Given the description of an element on the screen output the (x, y) to click on. 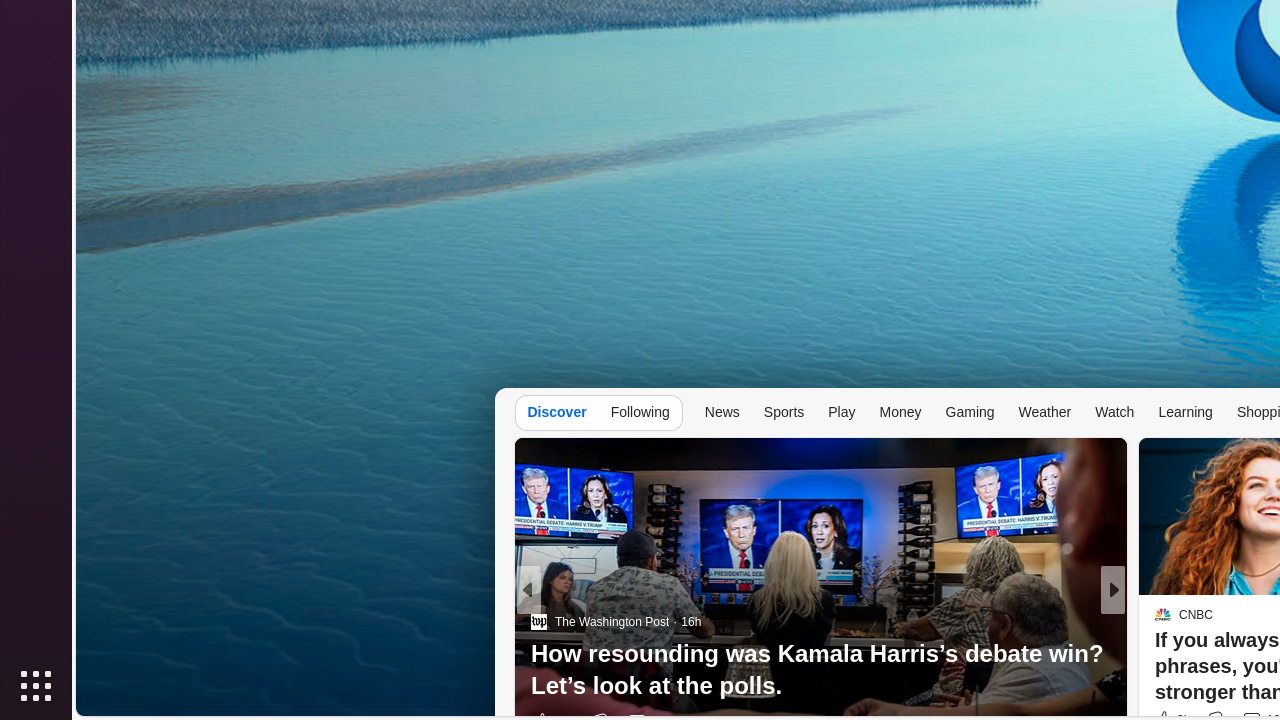
Sports Element type: link (784, 412)
Money Element type: link (900, 412)
Play Element type: link (842, 412)
PalmSens Element type: link (1174, 654)
News Element type: link (722, 412)
